Given the description of an element on the screen output the (x, y) to click on. 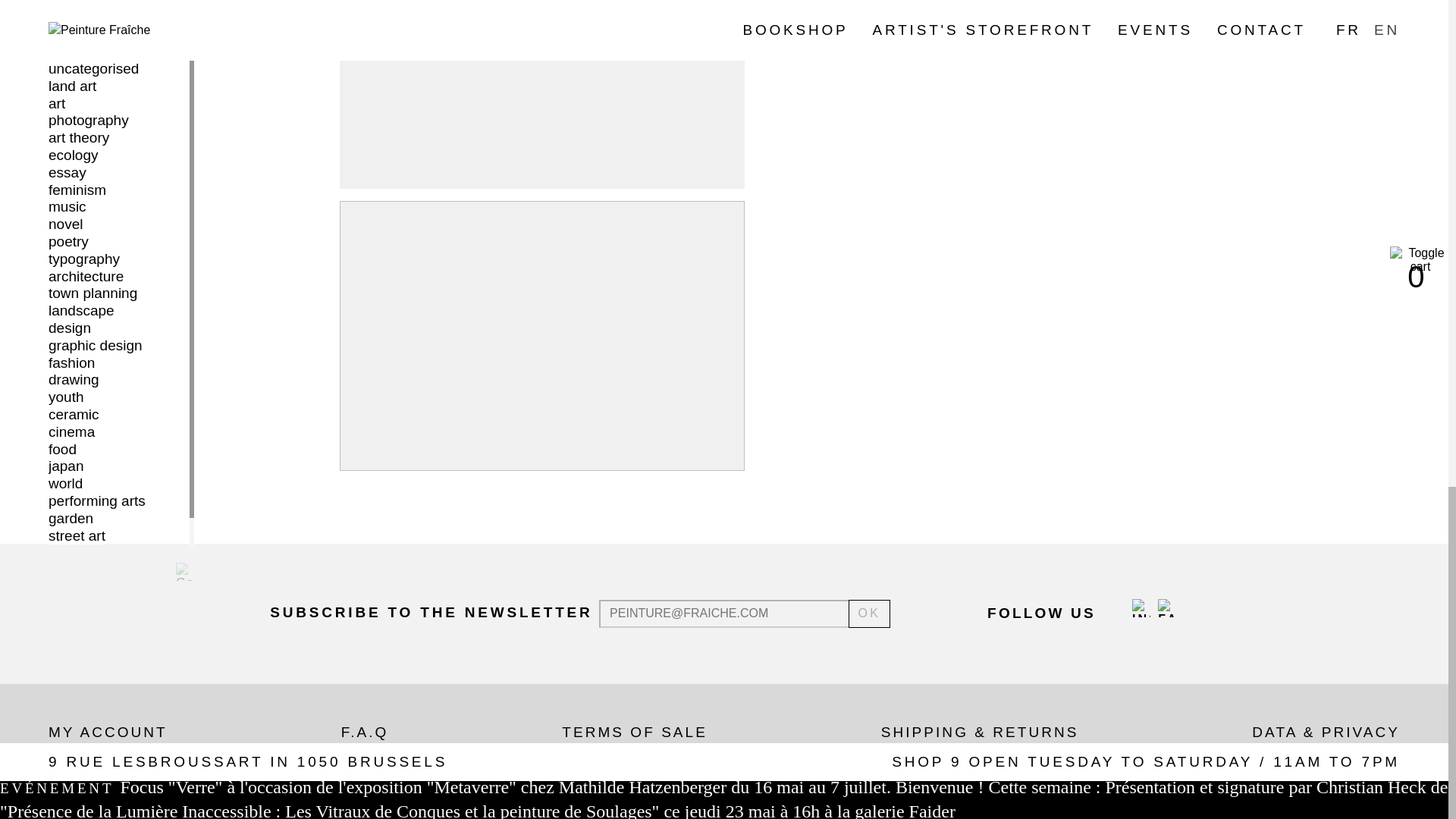
Terms of sale (634, 731)
F.A.Q (364, 731)
OK (869, 613)
My Account (107, 731)
